Given the description of an element on the screen output the (x, y) to click on. 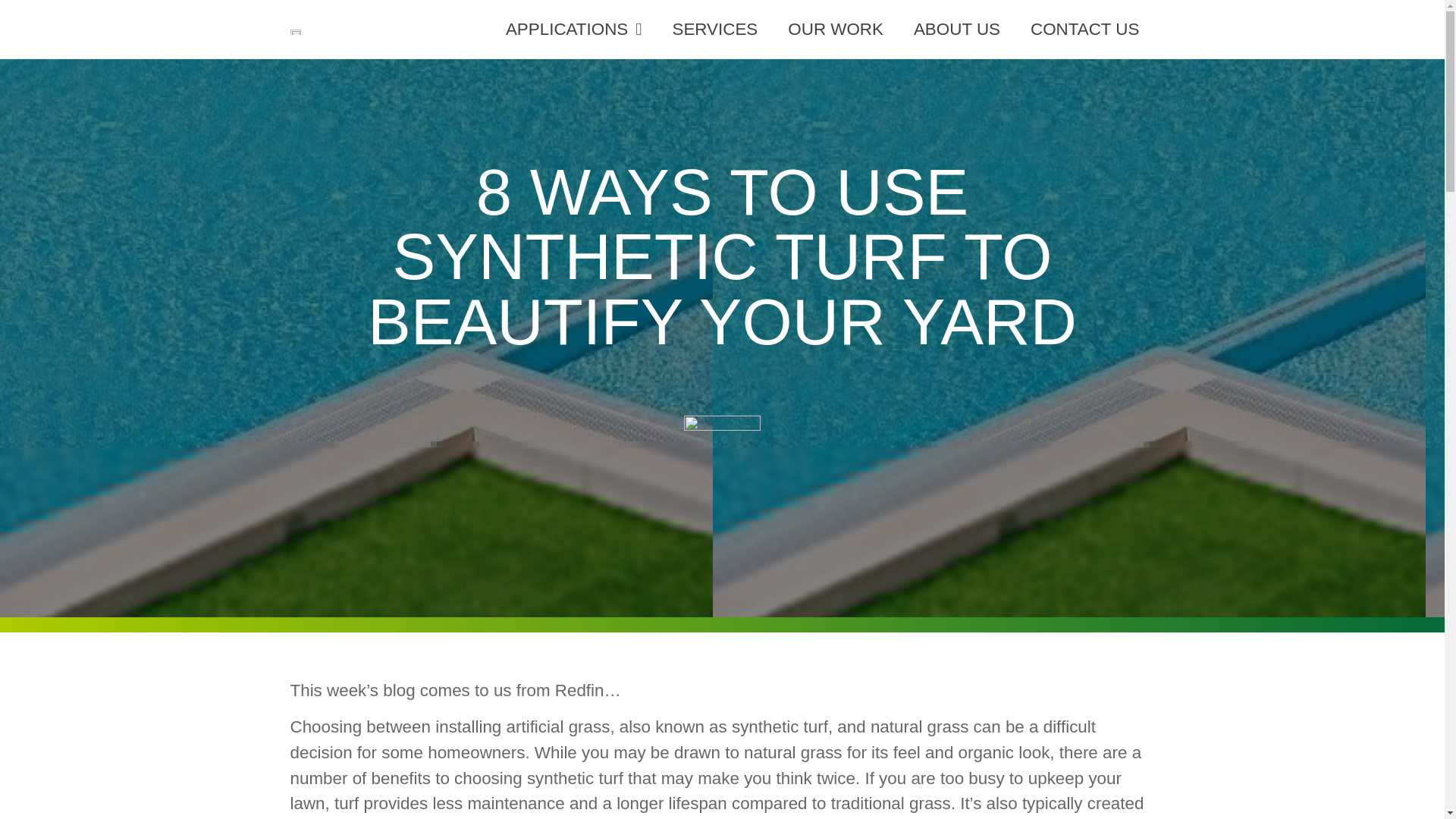
OUR WORK (835, 29)
SERVICES (714, 29)
APPLICATIONS (574, 29)
ABOUT US (956, 29)
CONTACT US (1084, 29)
